Given the description of an element on the screen output the (x, y) to click on. 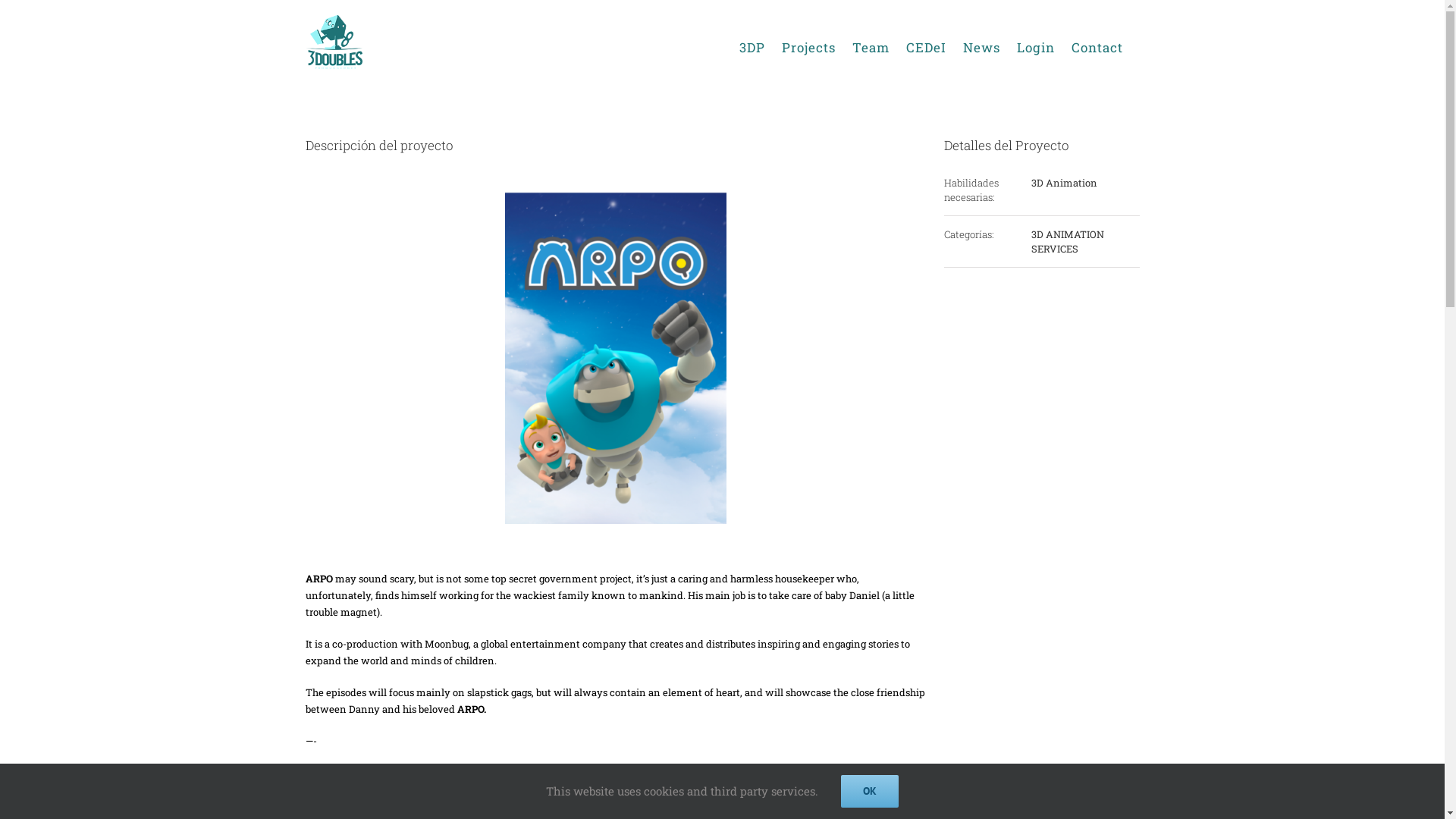
OK Element type: text (869, 791)
Contact Element type: text (1096, 47)
CEDeI Element type: text (925, 47)
3DP Element type: text (751, 47)
3D Animation Element type: text (1064, 182)
SERVICES Element type: text (1054, 248)
Login Element type: text (1035, 47)
Projects Element type: text (807, 47)
3D ANIMATION Element type: text (1067, 234)
News Element type: text (981, 47)
Team Element type: text (870, 47)
